Given the description of an element on the screen output the (x, y) to click on. 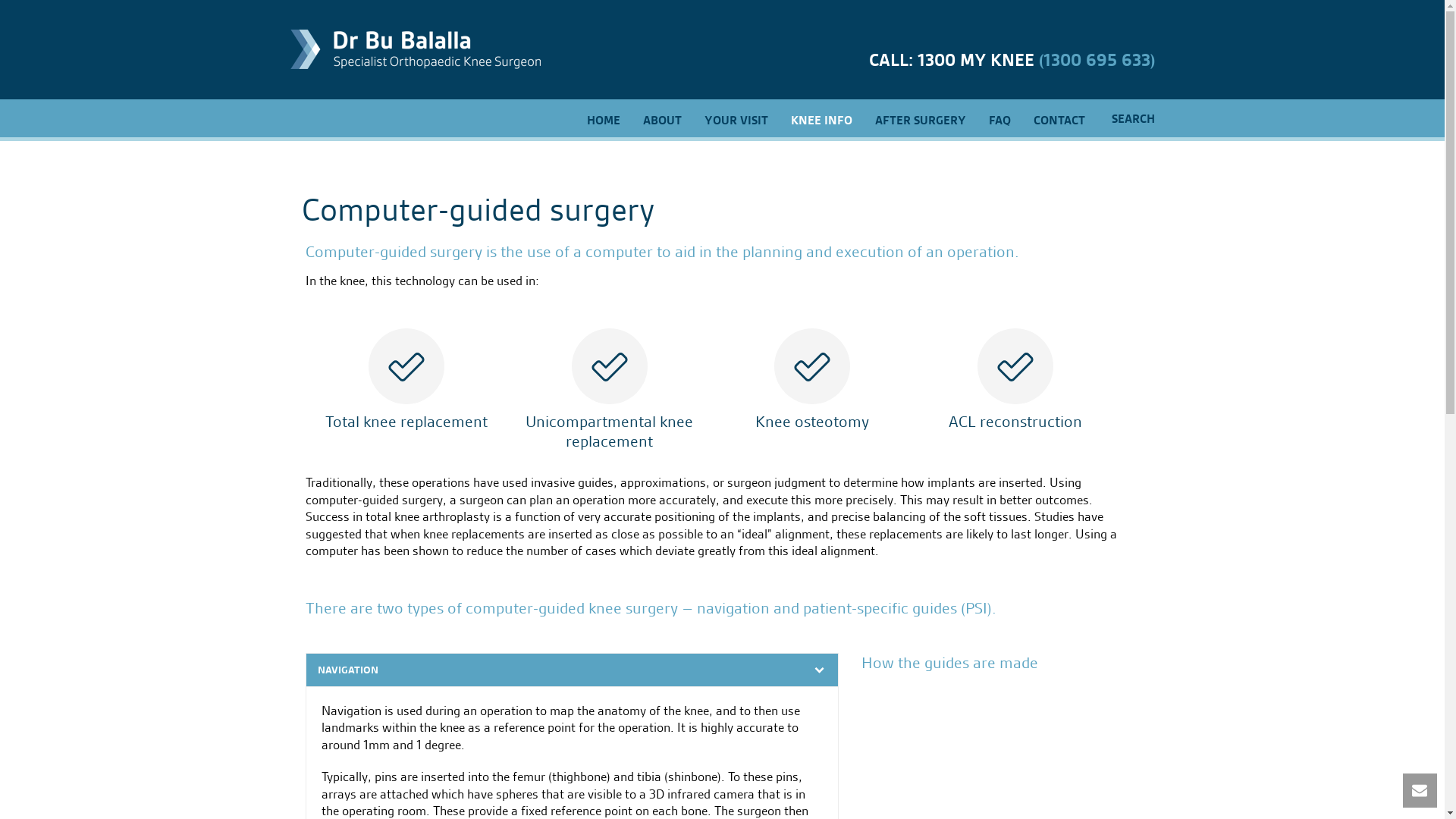
FAQ Element type: text (998, 119)
ABOUT Element type: text (661, 119)
CONTACT Element type: text (1059, 119)
AFTER SURGERY Element type: text (919, 119)
Specialist Orthopaedic Knee Surgeon Element type: hover (414, 49)
HOME Element type: text (602, 119)
KNEE INFO Element type: text (821, 119)
SEARCH Element type: text (1125, 119)
(1300 695 633) Element type: text (1096, 60)
YOUR VISIT Element type: text (736, 119)
